Given the description of an element on the screen output the (x, y) to click on. 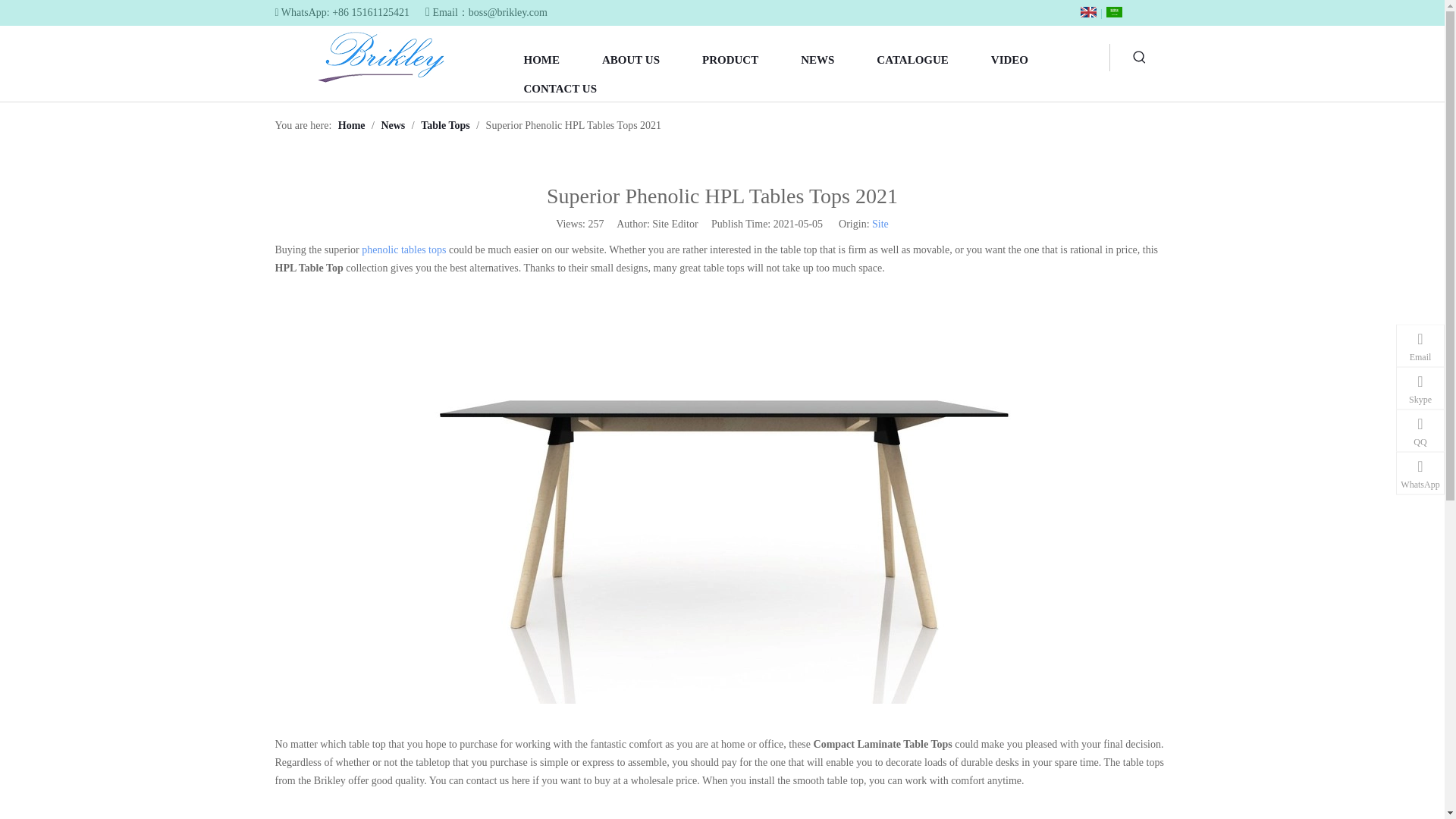
VIDEO (1009, 58)
NEWS (817, 58)
CONTACT US (559, 86)
Jiangsu Jiashida Decorative Material Co.,Ltd. (380, 55)
ABOUT US (630, 58)
PRODUCT (729, 58)
HOME (540, 58)
CATALOGUE (911, 58)
